Given the description of an element on the screen output the (x, y) to click on. 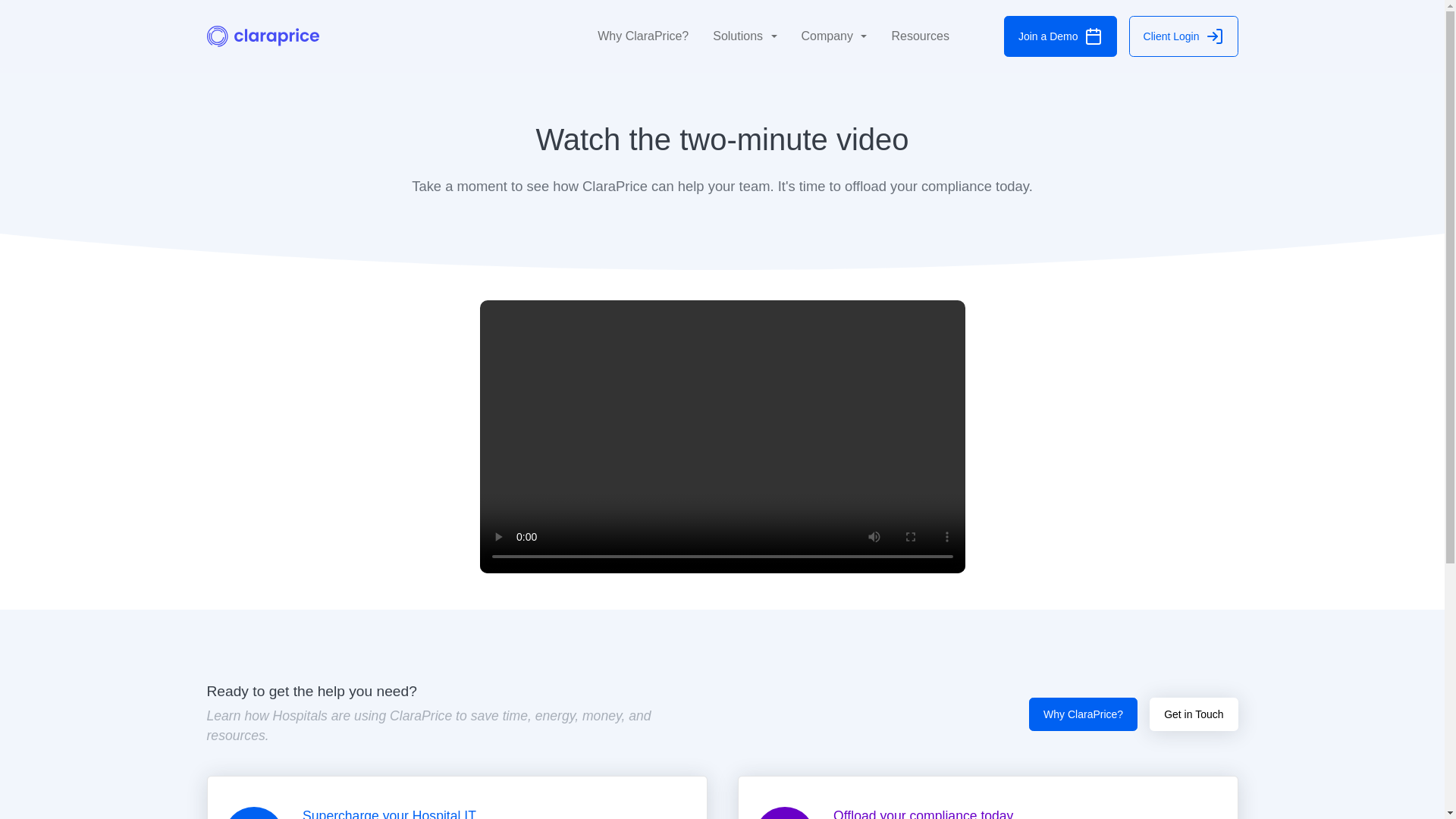
Supercharge your Hospital IT (456, 797)
Why ClaraPrice? (1083, 714)
Get in Touch (1193, 714)
Company (833, 36)
Client Login (1184, 35)
Solutions (744, 36)
Why ClaraPrice? (642, 36)
Resources (920, 36)
Resources (920, 36)
Join a Demo (1060, 35)
